Given the description of an element on the screen output the (x, y) to click on. 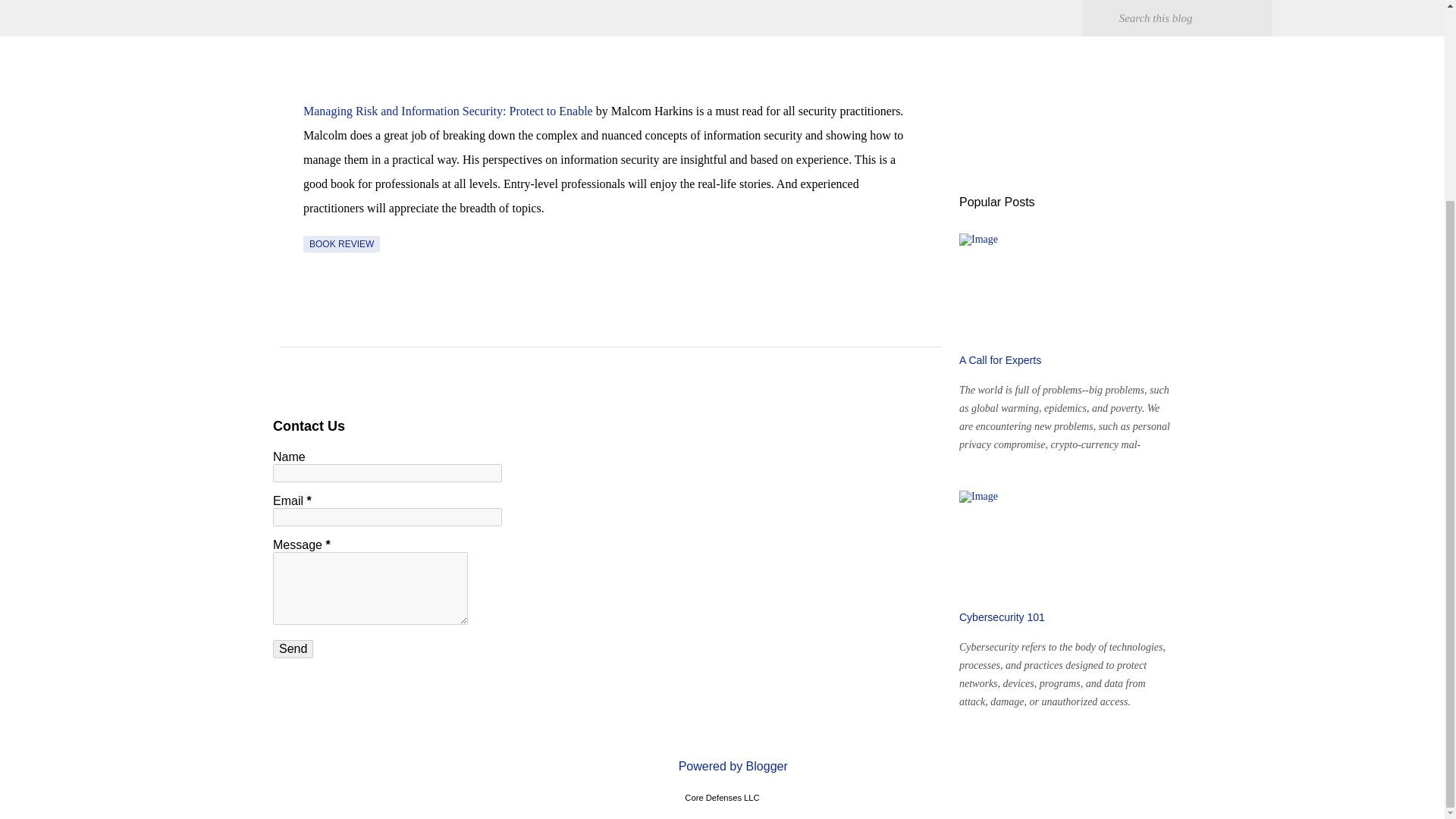
BOOK REVIEW (341, 243)
A Call for Experts (1000, 359)
Powered by Blogger (721, 766)
Managing Risk and Information Security: Protect to Enable (447, 110)
Cybersecurity 101 (1002, 616)
Send (293, 648)
